Given the description of an element on the screen output the (x, y) to click on. 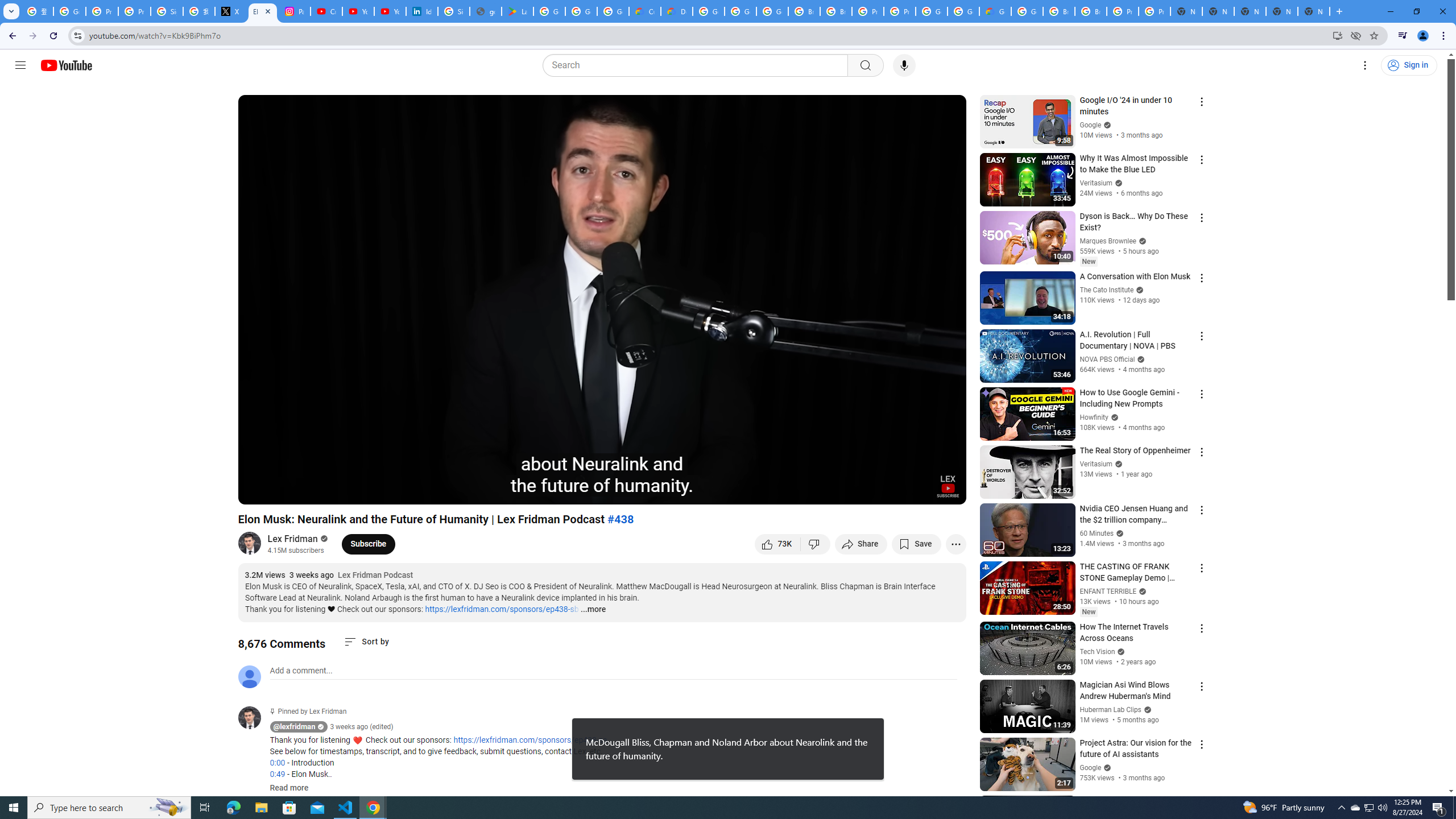
...more (592, 609)
Sort comments (366, 641)
Subtitles/closed captions unavailable (836, 490)
Channel watermark (947, 486)
Google Cloud Platform (708, 11)
Theater mode (t) (917, 490)
